Given the description of an element on the screen output the (x, y) to click on. 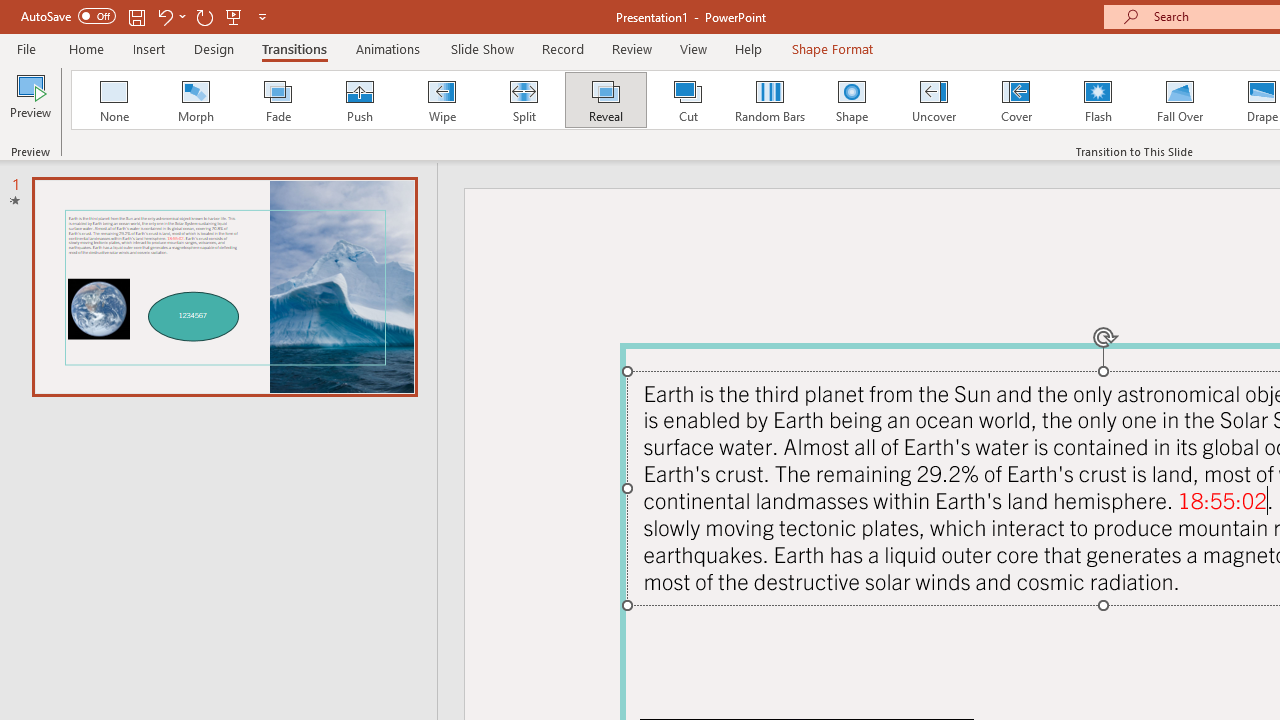
Split (523, 100)
Shape (852, 100)
Fall Over (1180, 100)
None (113, 100)
Morph (195, 100)
Cover (1016, 100)
Uncover (934, 100)
